Given the description of an element on the screen output the (x, y) to click on. 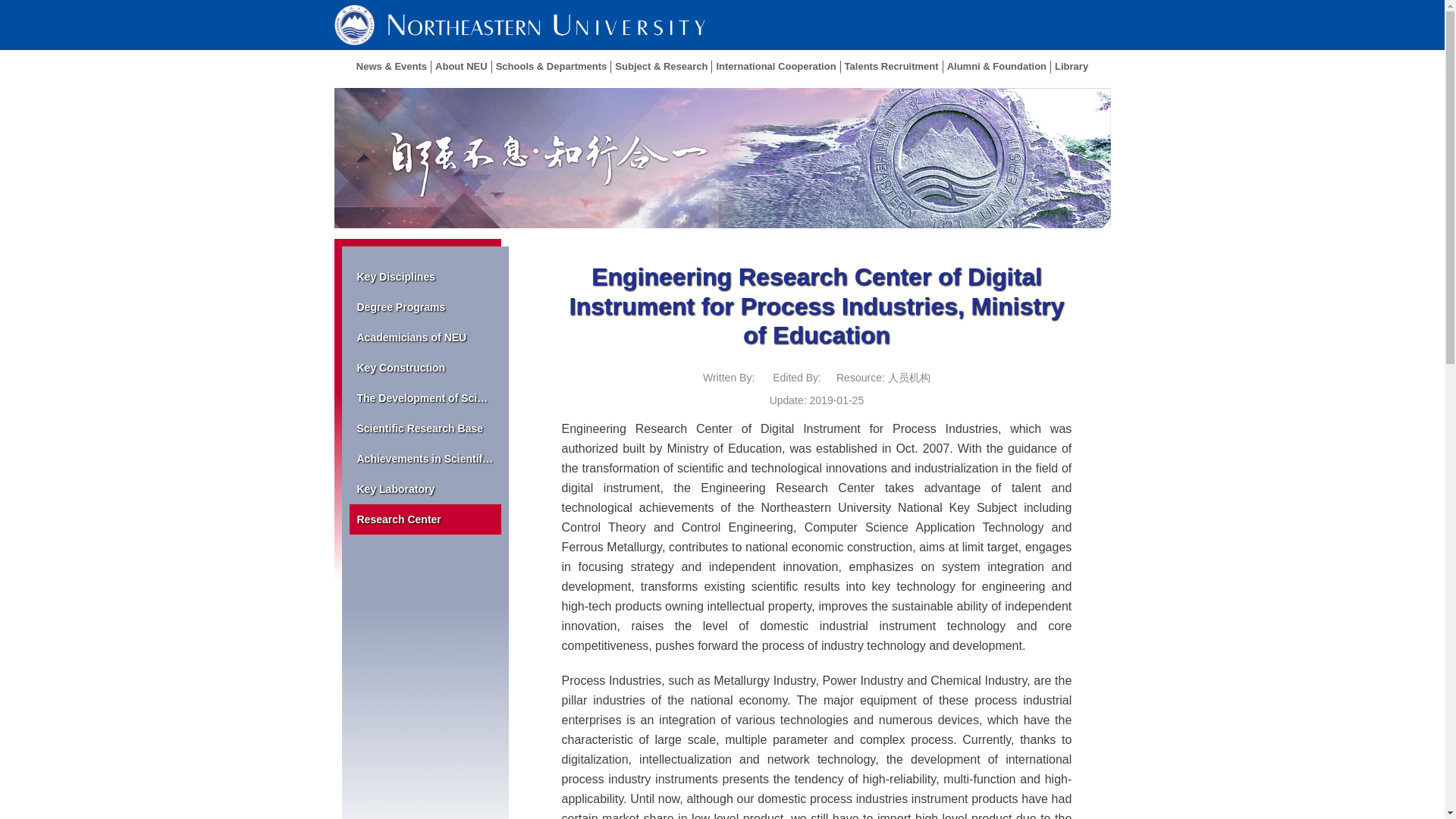
Talents Recruitment (892, 67)
International Cooperation (775, 67)
Library (1069, 67)
Key Construction (424, 367)
Academicians of NEU (424, 337)
Degree Programs (424, 306)
Key Disciplines (424, 276)
About NEU (461, 67)
